Given the description of an element on the screen output the (x, y) to click on. 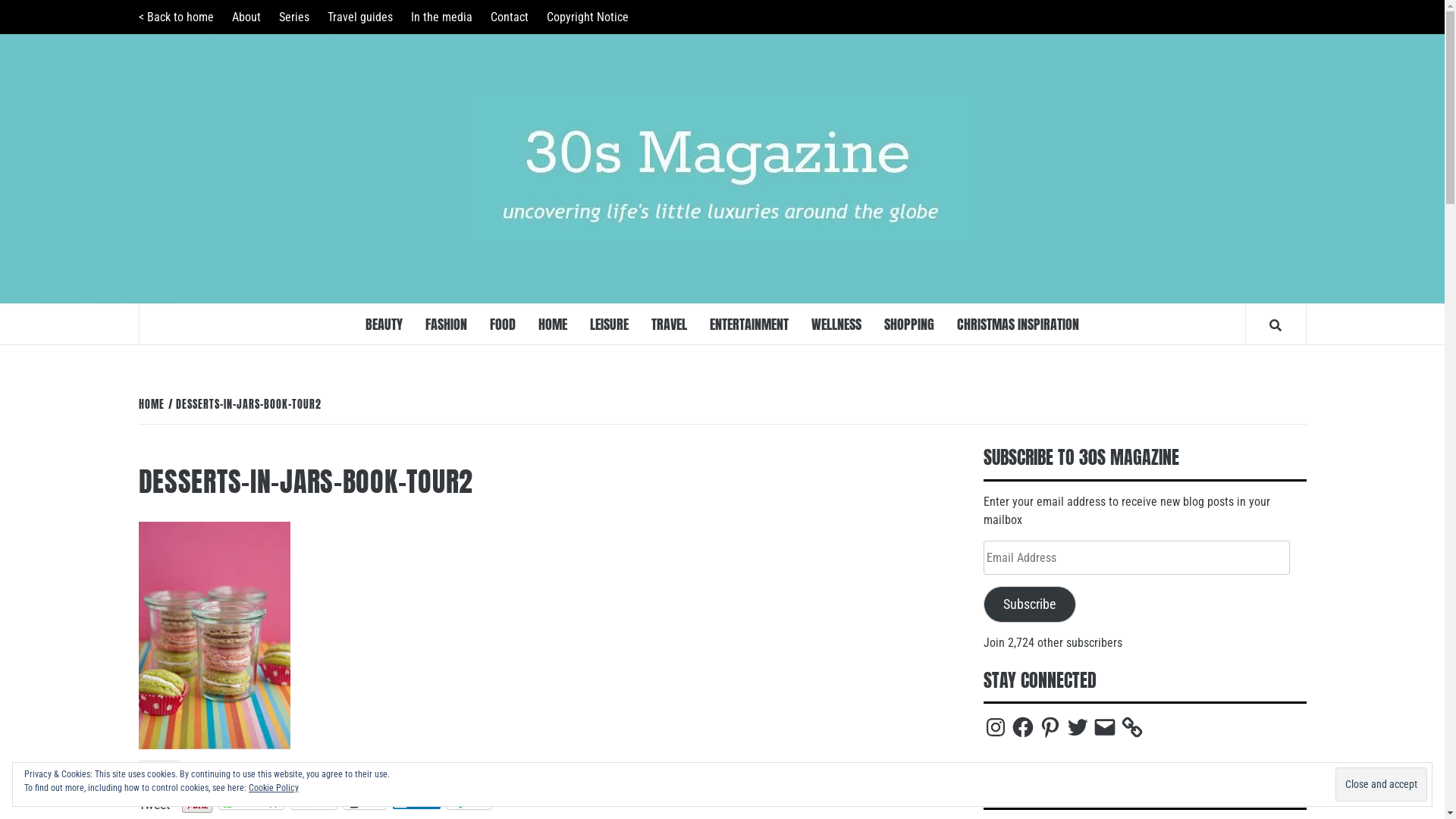
HOME Element type: text (152, 404)
Pinterest Element type: text (1049, 727)
Tweet Element type: text (153, 796)
BEAUTY Element type: text (384, 324)
Copyright Notice Element type: text (586, 17)
Print Element type: text (364, 801)
FOOD Element type: text (502, 324)
DESSERTS-IN-JARS-BOOK-TOUR2 Element type: text (246, 404)
SHOPPING Element type: text (908, 324)
Email Element type: text (1104, 727)
< Back to home Element type: text (179, 17)
Twitter Element type: text (1076, 727)
Instagram Element type: text (994, 727)
About Element type: text (246, 17)
Share Element type: text (416, 801)
Close and accept Element type: text (1381, 784)
More Element type: text (468, 801)
LEISURE Element type: text (609, 324)
WELLNESS Element type: text (836, 324)
In the media Element type: text (441, 17)
Email Element type: text (313, 801)
Cookie Policy Element type: text (273, 787)
Facebook Element type: text (1022, 727)
FASHION Element type: text (446, 324)
TRAVEL Element type: text (669, 324)
WhatsApp Element type: text (251, 801)
HOME Element type: text (552, 324)
Travel guides Element type: text (360, 17)
Series Element type: text (293, 17)
Contact Element type: text (508, 17)
CHRISTMAS INSPIRATION Element type: text (1017, 324)
30S MAGAZINE Element type: text (1146, 204)
Subscribe Element type: text (1029, 604)
ENTERTAINMENT Element type: text (749, 324)
